Given the description of an element on the screen output the (x, y) to click on. 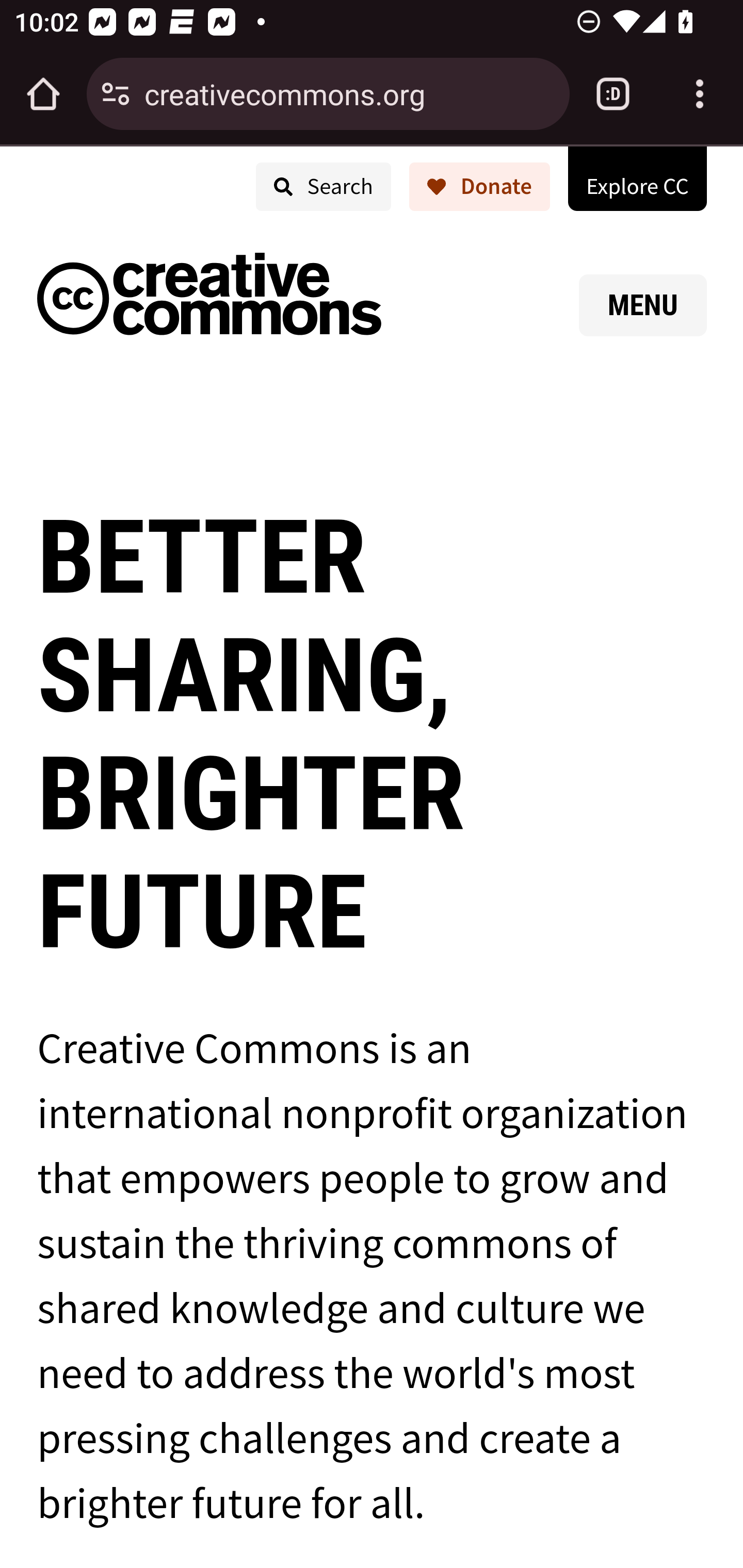
Open the home page (43, 93)
Connection is secure (115, 93)
Switch or close tabs (612, 93)
Customize and control Google Chrome (699, 93)
creativecommons.org (349, 92)
Explore CC (637, 177)
Search (322, 187)
Donate (478, 187)
Creative Commons (209, 298)
MENU (643, 305)
